Given the description of an element on the screen output the (x, y) to click on. 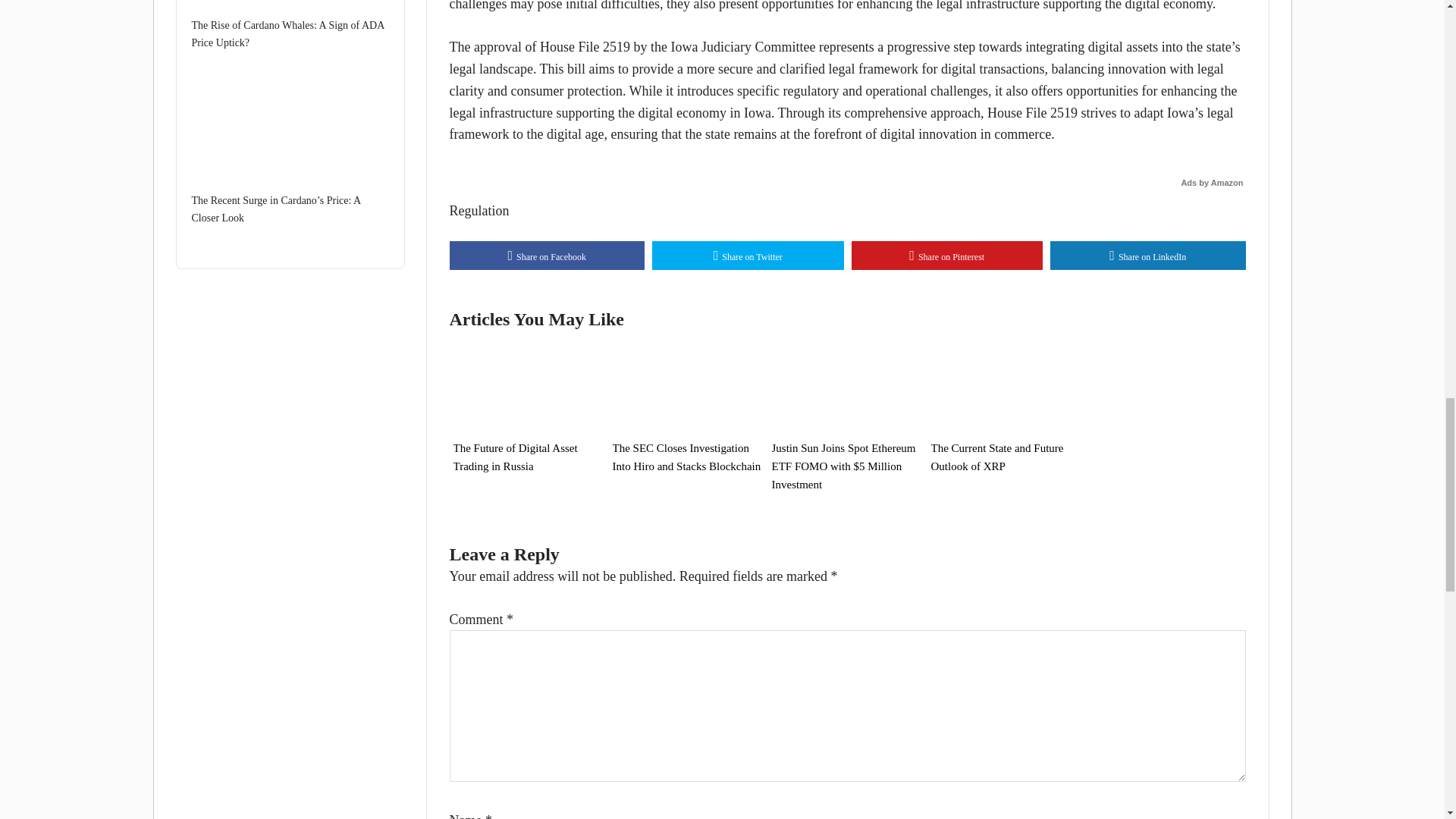
Regulation (478, 210)
